Given the description of an element on the screen output the (x, y) to click on. 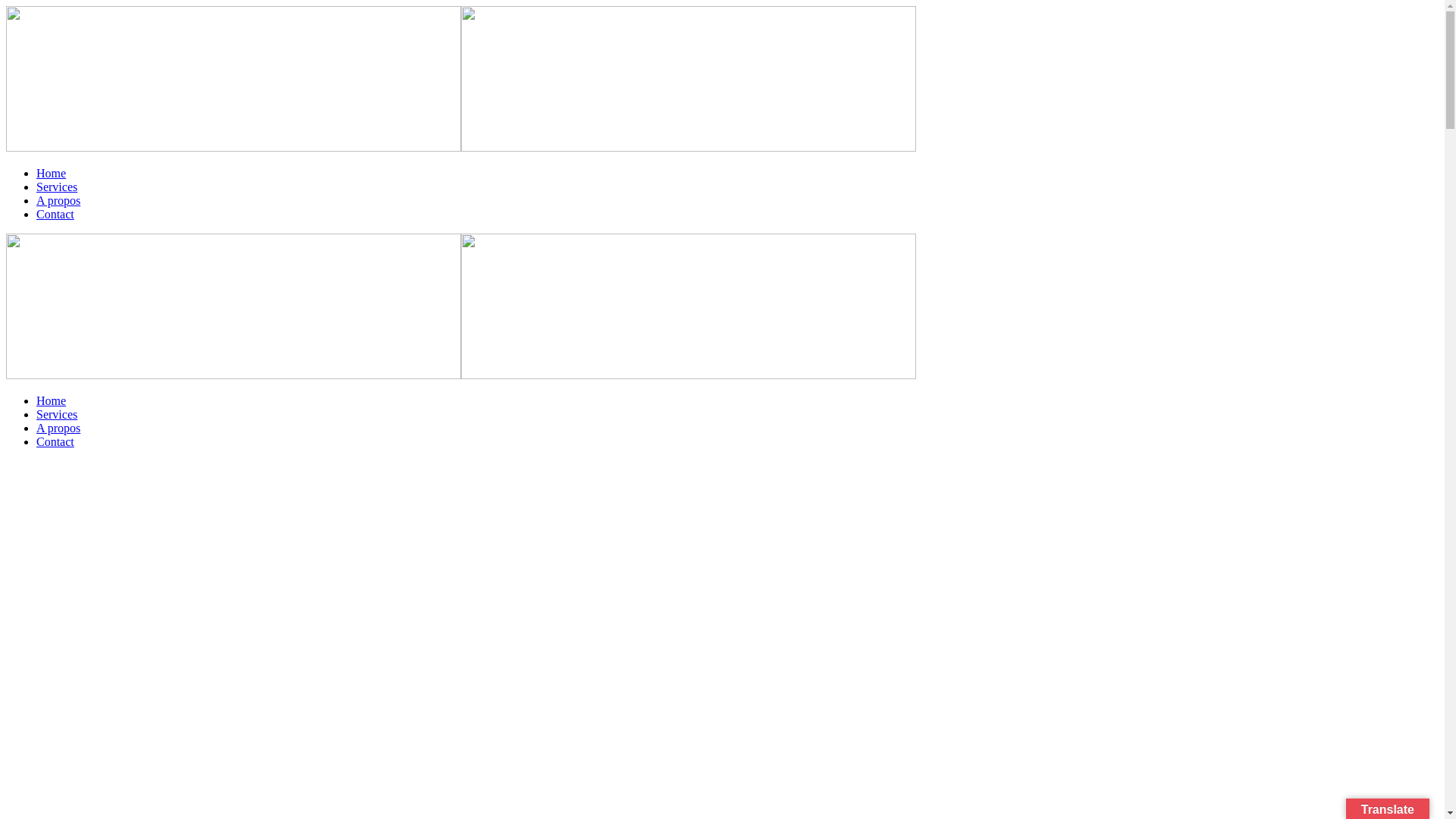
Services Element type: text (56, 413)
logo-colosseus-consulting-header-blanc-geneva-conseil-GD Element type: hover (233, 78)
logo-colosseus-consulting-header-blanc-geneva-conseil-GD Element type: hover (233, 306)
Contact Element type: text (55, 213)
Home Element type: text (50, 172)
Services Element type: text (56, 186)
A propos Element type: text (58, 427)
Home Element type: text (50, 400)
Contact Element type: text (55, 441)
logo-colosseus-consulting-header-blanc-geneva-conseil-GD Element type: hover (688, 306)
A propos Element type: text (58, 200)
logo-colosseus-consulting-header-blanc-geneva-conseil-GD Element type: hover (688, 78)
